Given the description of an element on the screen output the (x, y) to click on. 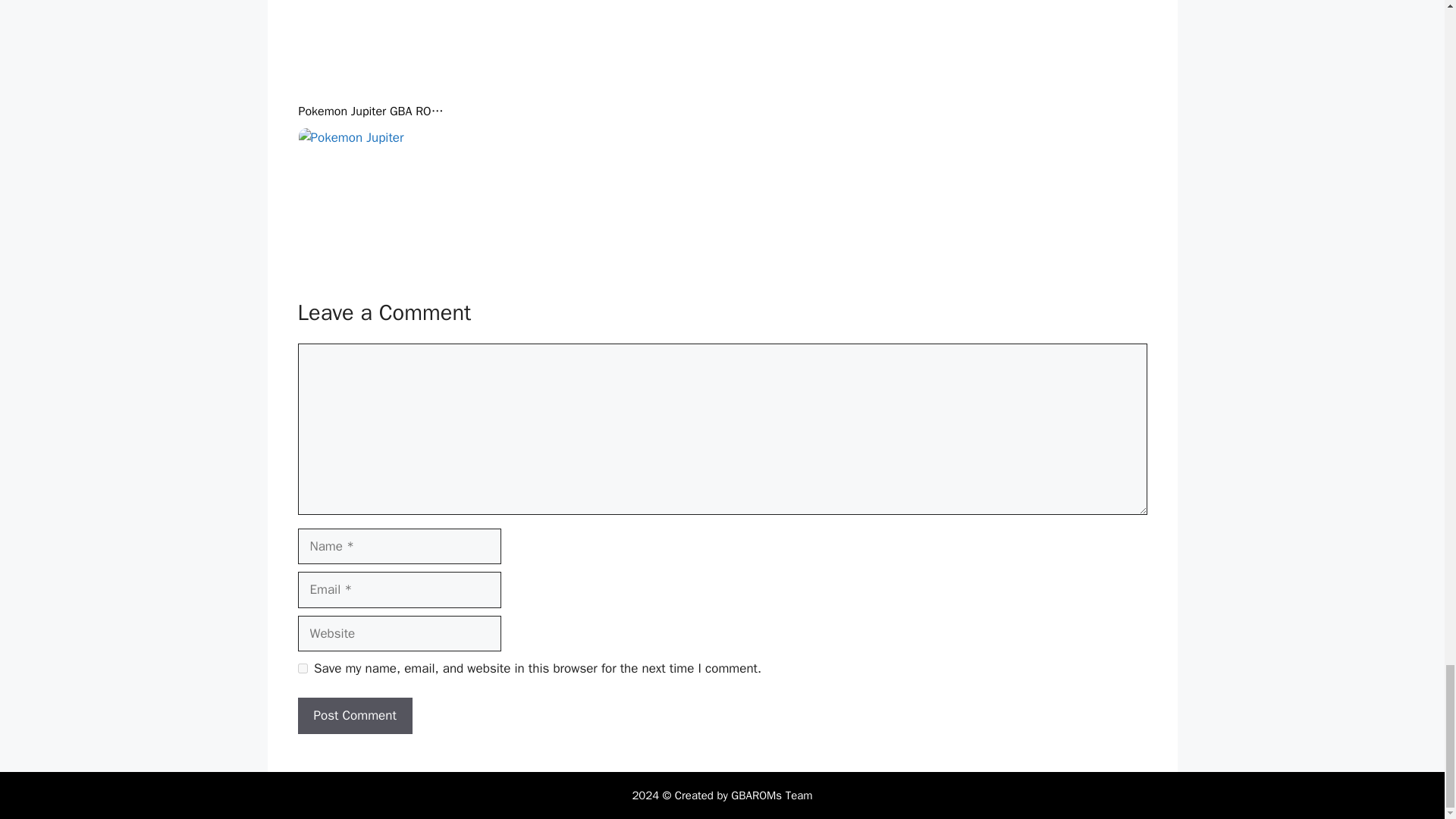
yes (302, 668)
Post Comment (354, 715)
Post Comment (354, 715)
